Given the description of an element on the screen output the (x, y) to click on. 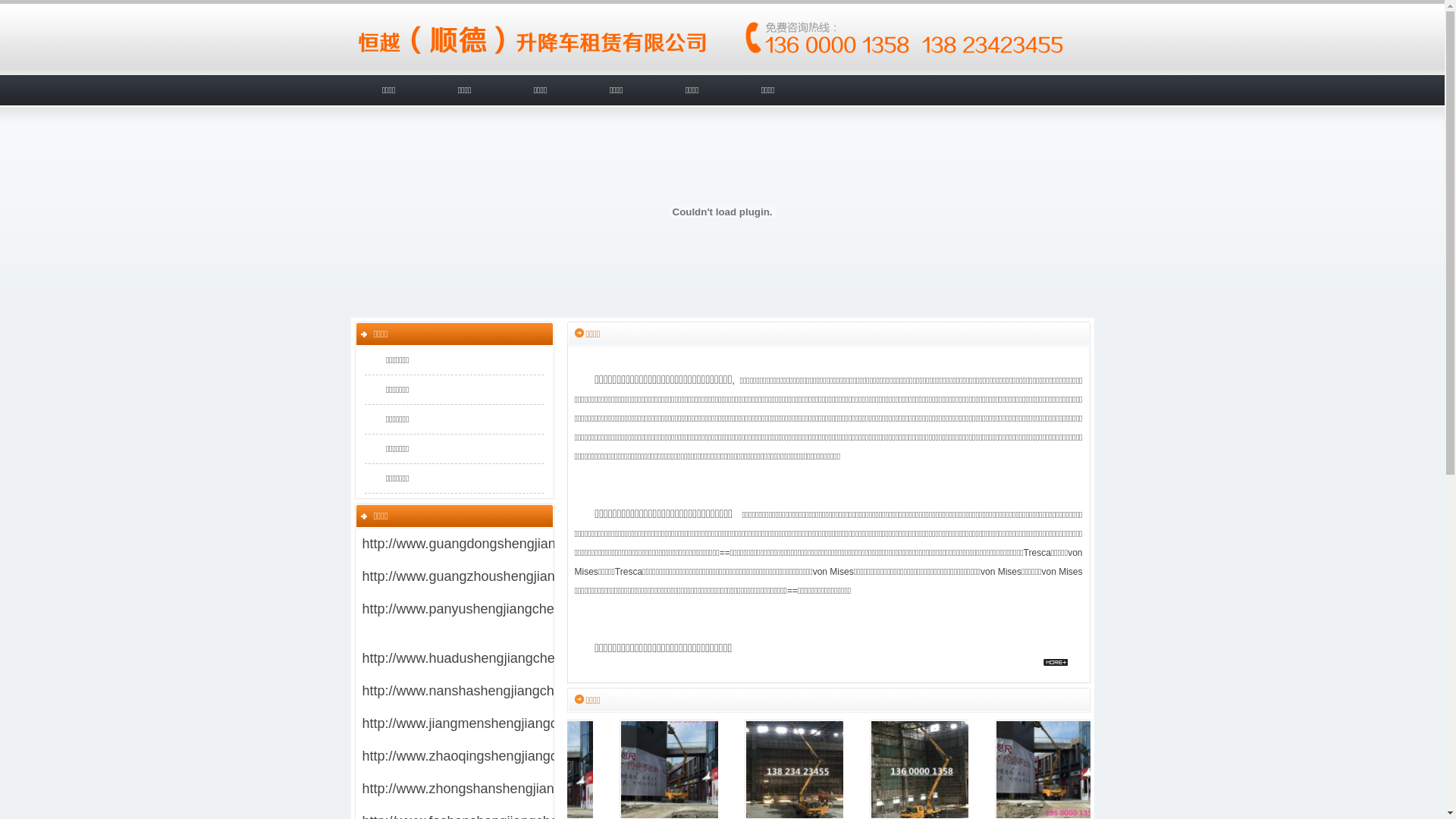
http://www.zhongshanshengjiangchechuzu.com/ Element type: text (507, 788)
http://www.guangzhoushengjiangchechuzu.com/ Element type: text (508, 575)
http://www.jiangmenshengjiangchechuzu.com/ Element type: text (502, 723)
http://www.zhaoqingshengjiangchechuzu.com/ Element type: text (502, 755)
http://www.guangdongshengjiangche.com/ Element type: text (490, 543)
http://www.huadushengjiangchechuzu.com/ Element type: text (493, 657)
http://www.nanshashengjiangchechuzu.com/ Element type: text (496, 690)
http://www.panyushengjiangchechuzu.com/ Element type: text (493, 608)
